Given the description of an element on the screen output the (x, y) to click on. 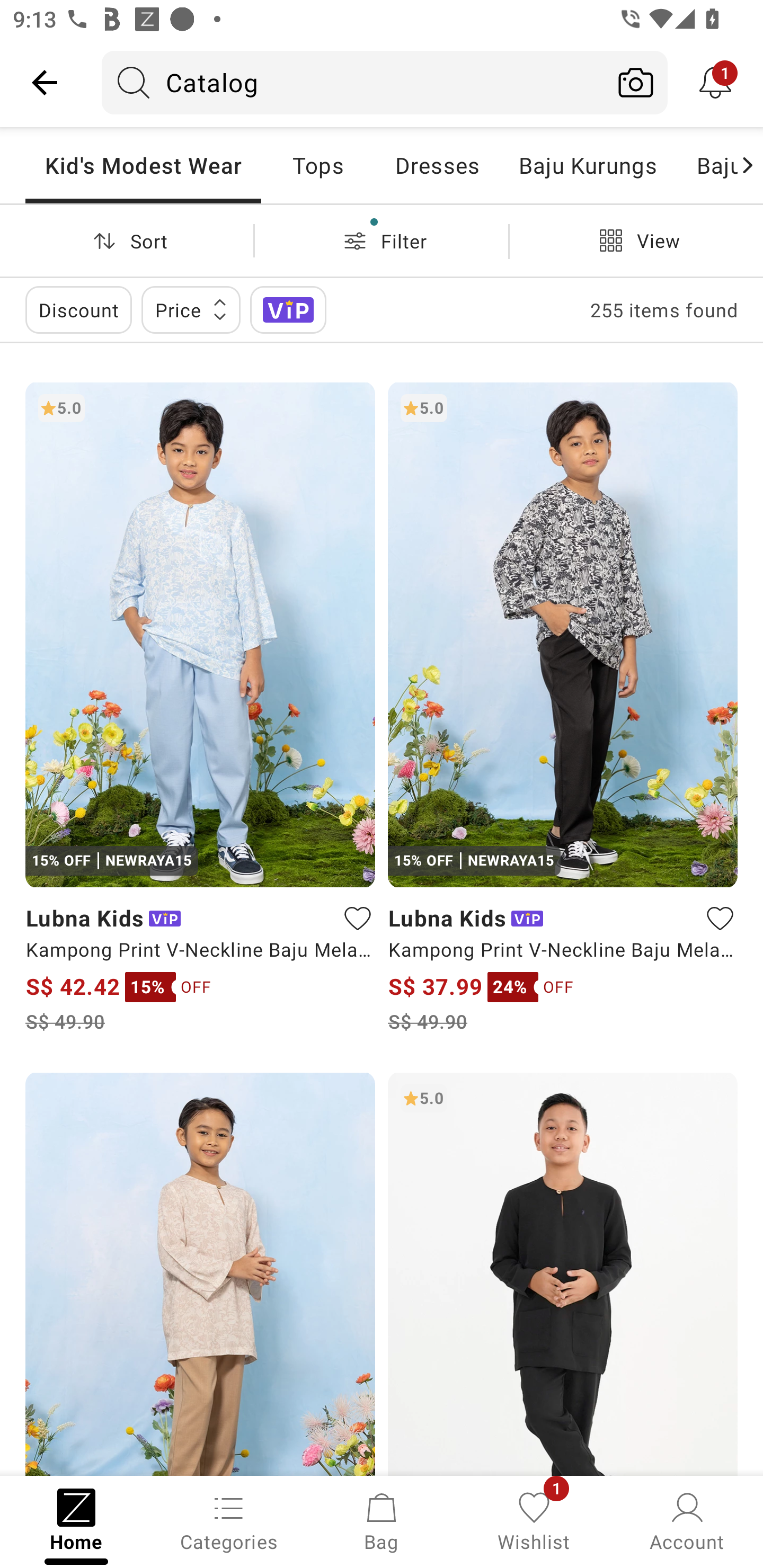
Navigate up (44, 82)
Catalog (352, 82)
Tops (317, 165)
Dresses (437, 165)
Baju Kurungs (587, 165)
Baju Melayu (706, 165)
Sort (126, 240)
Filter (381, 240)
View (636, 240)
Discount (78, 309)
Price (190, 309)
5.0 (562, 1272)
Categories (228, 1519)
Bag (381, 1519)
Wishlist, 1 new notification Wishlist (533, 1519)
Account (686, 1519)
